Given the description of an element on the screen output the (x, y) to click on. 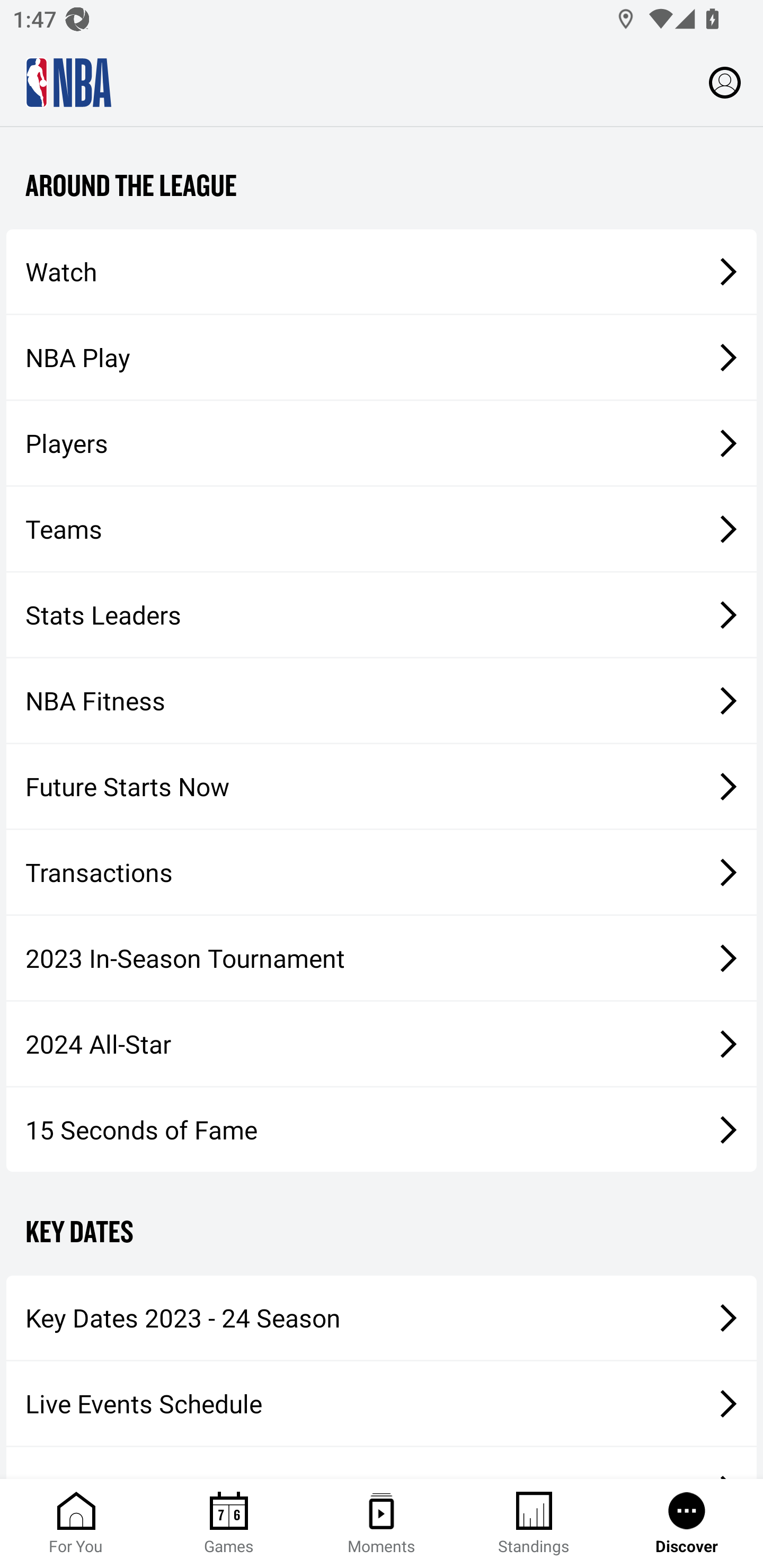
Profile (724, 81)
Watch (381, 270)
NBA Play (381, 357)
Players (381, 442)
Teams (381, 528)
Stats Leaders (381, 614)
NBA Fitness (381, 700)
Future Starts Now (381, 785)
Transactions (381, 871)
2023 In-Season Tournament (381, 957)
2024 All-Star (381, 1043)
15 Seconds of Fame (381, 1129)
Key Dates 2023 - 24 Season (381, 1317)
Live Events Schedule (381, 1403)
For You (76, 1523)
Games (228, 1523)
Moments (381, 1523)
Standings (533, 1523)
